Given the description of an element on the screen output the (x, y) to click on. 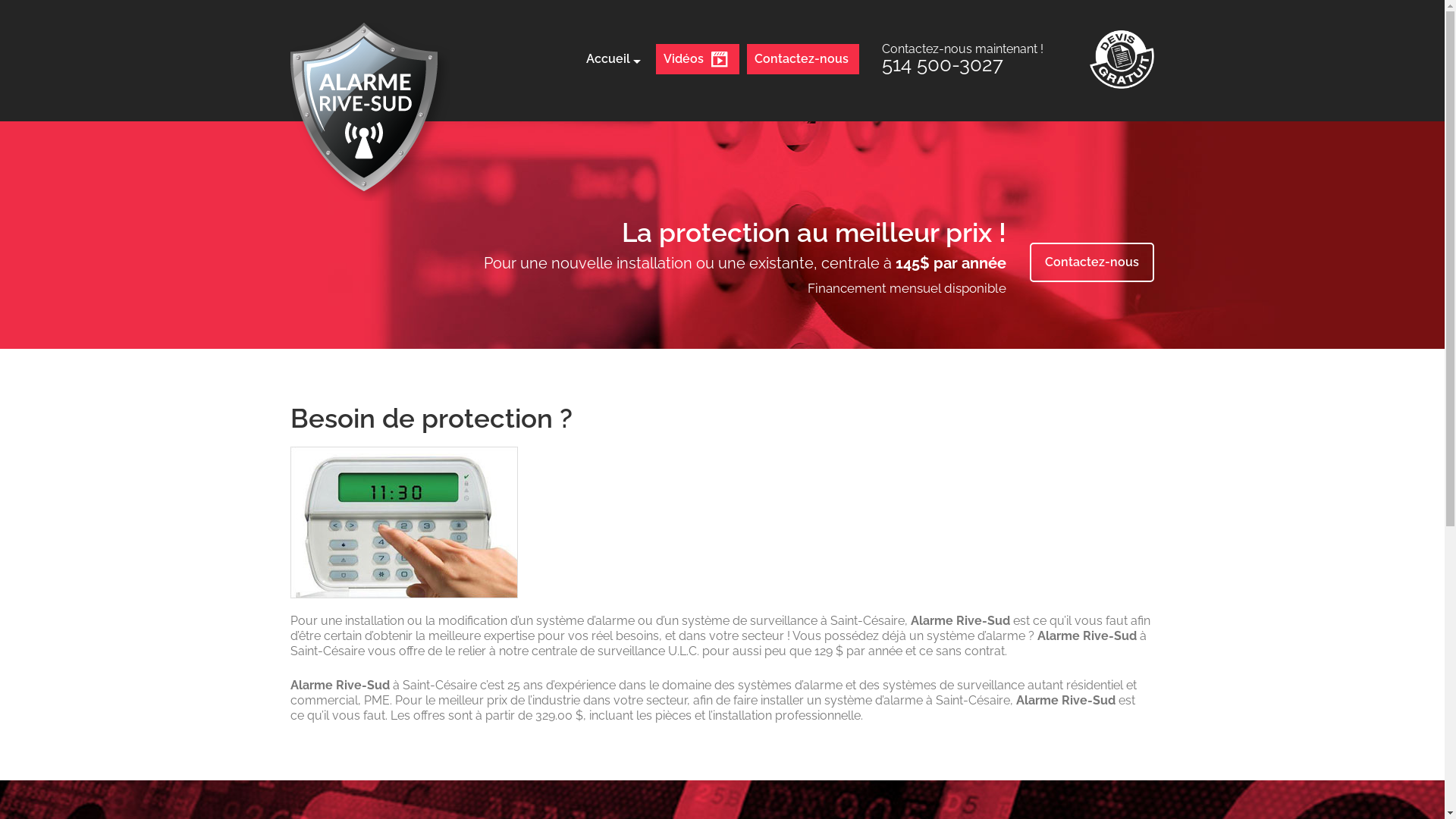
Accueil Element type: text (613, 58)
Contactez-nous Element type: text (1091, 262)
Contactez-nous Element type: text (801, 58)
